Given the description of an element on the screen output the (x, y) to click on. 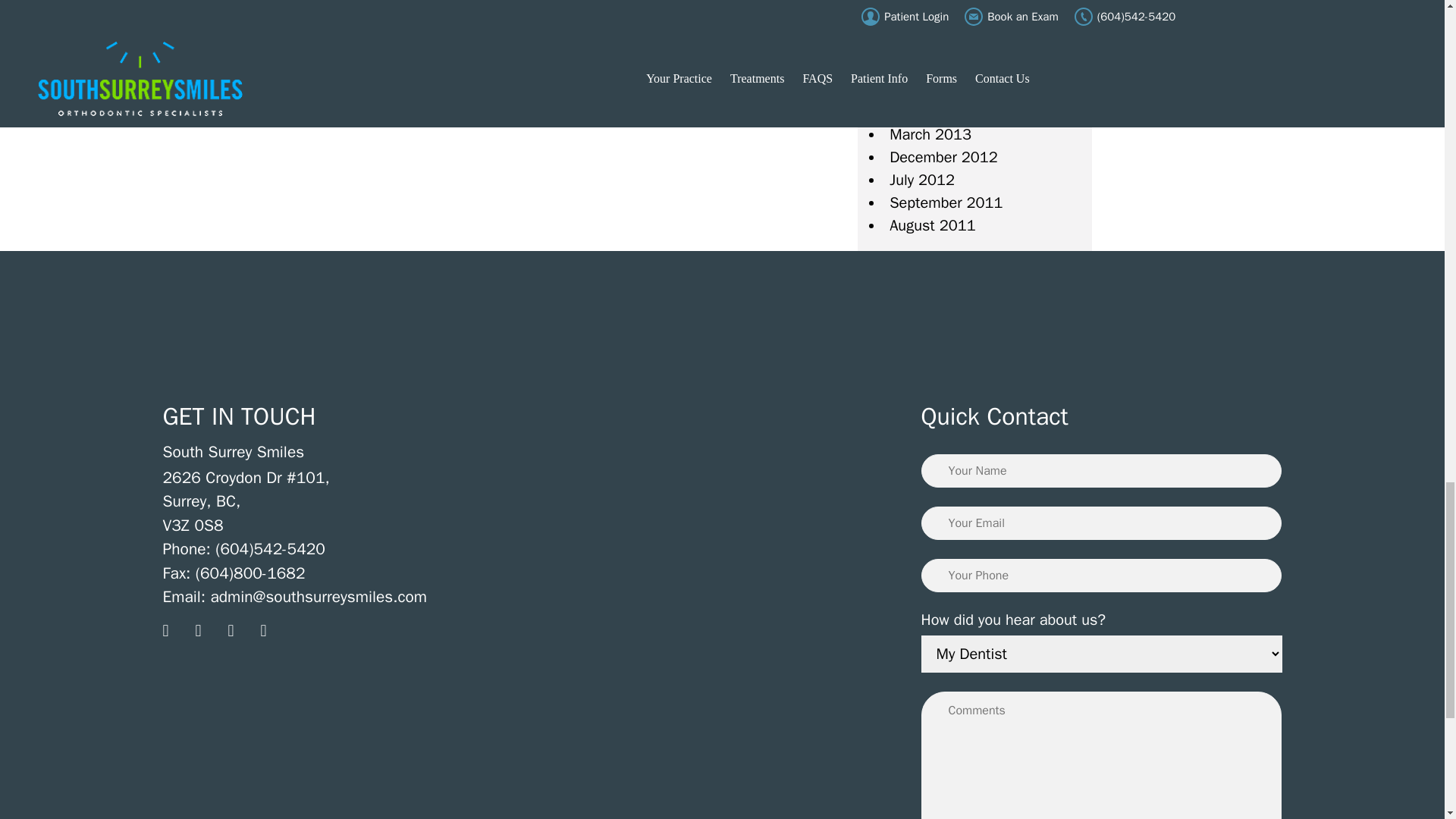
Facebook (209, 635)
Twitter (241, 635)
Instagram (175, 635)
Youtube (274, 635)
